Given the description of an element on the screen output the (x, y) to click on. 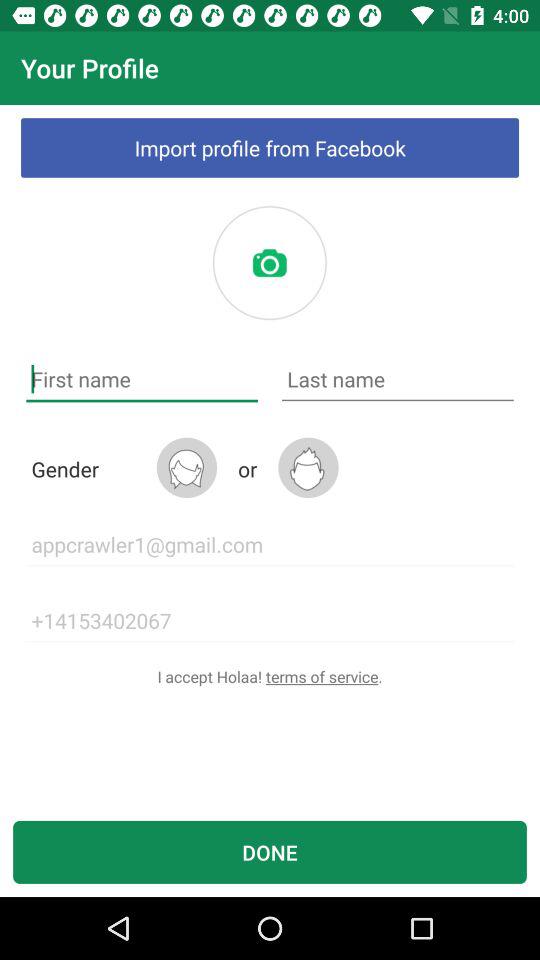
insert last name (397, 379)
